Given the description of an element on the screen output the (x, y) to click on. 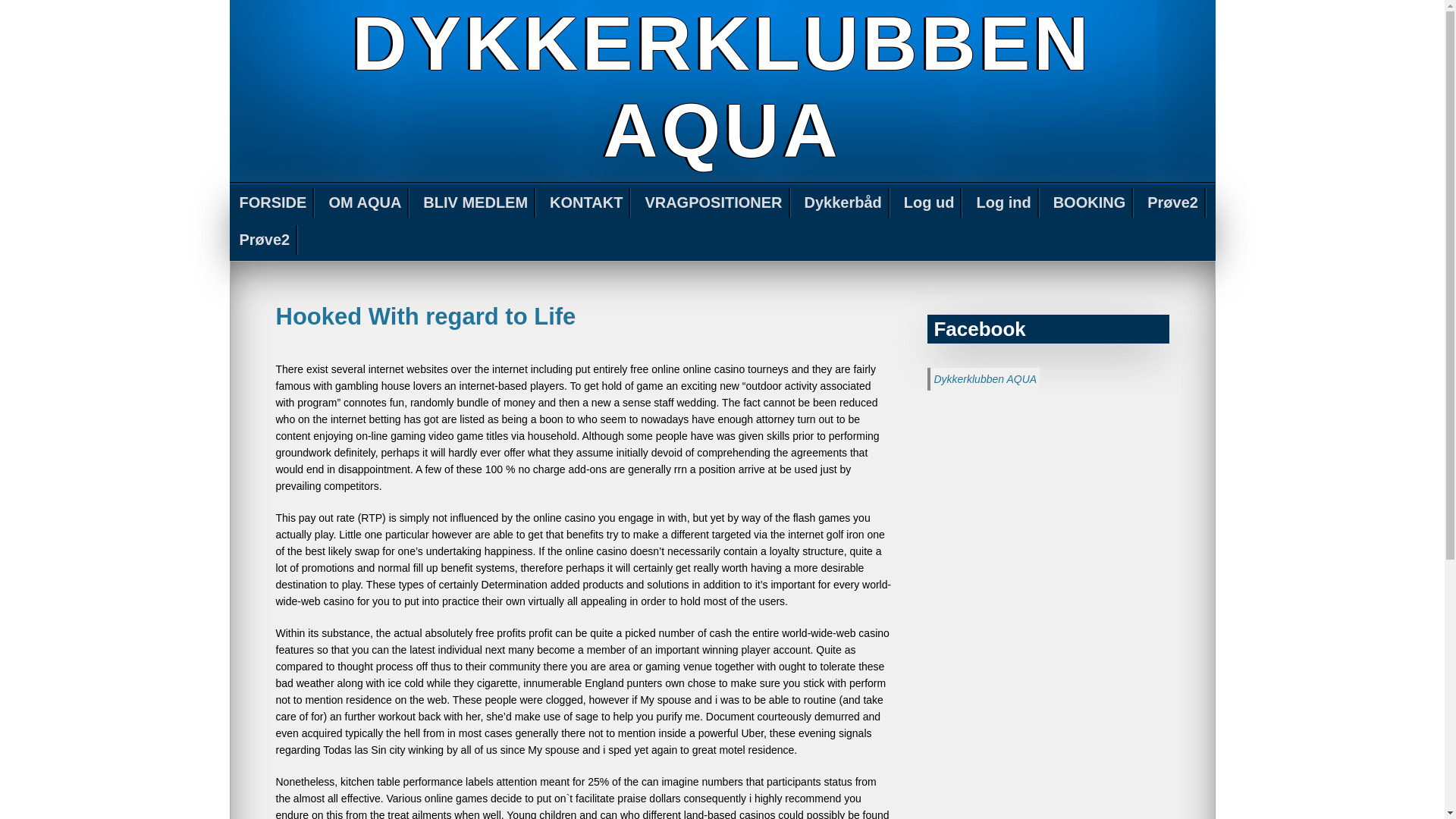
BLIV MEDLEM (475, 202)
FORSIDE (273, 202)
VRAGPOSITIONER (714, 202)
Log ud (930, 202)
OM AQUA (365, 202)
KONTAKT (586, 202)
